Given the description of an element on the screen output the (x, y) to click on. 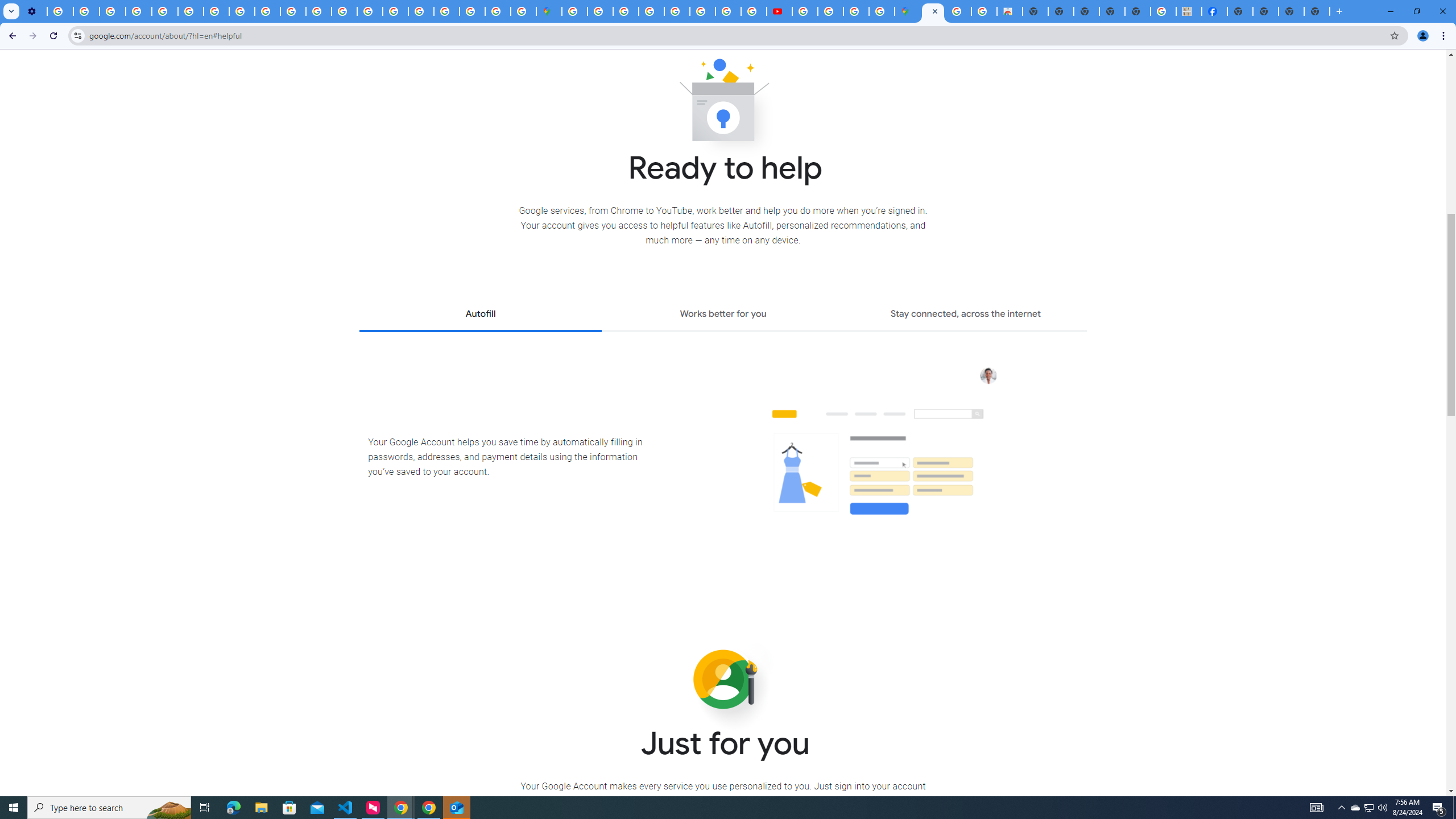
Privacy Help Center - Policies Help (727, 11)
Subscriptions - YouTube (779, 11)
Sign in - Google Accounts (446, 11)
Learn how to find your photos - Google Photos Help (86, 11)
Privacy Checkup (266, 11)
